Given the description of an element on the screen output the (x, y) to click on. 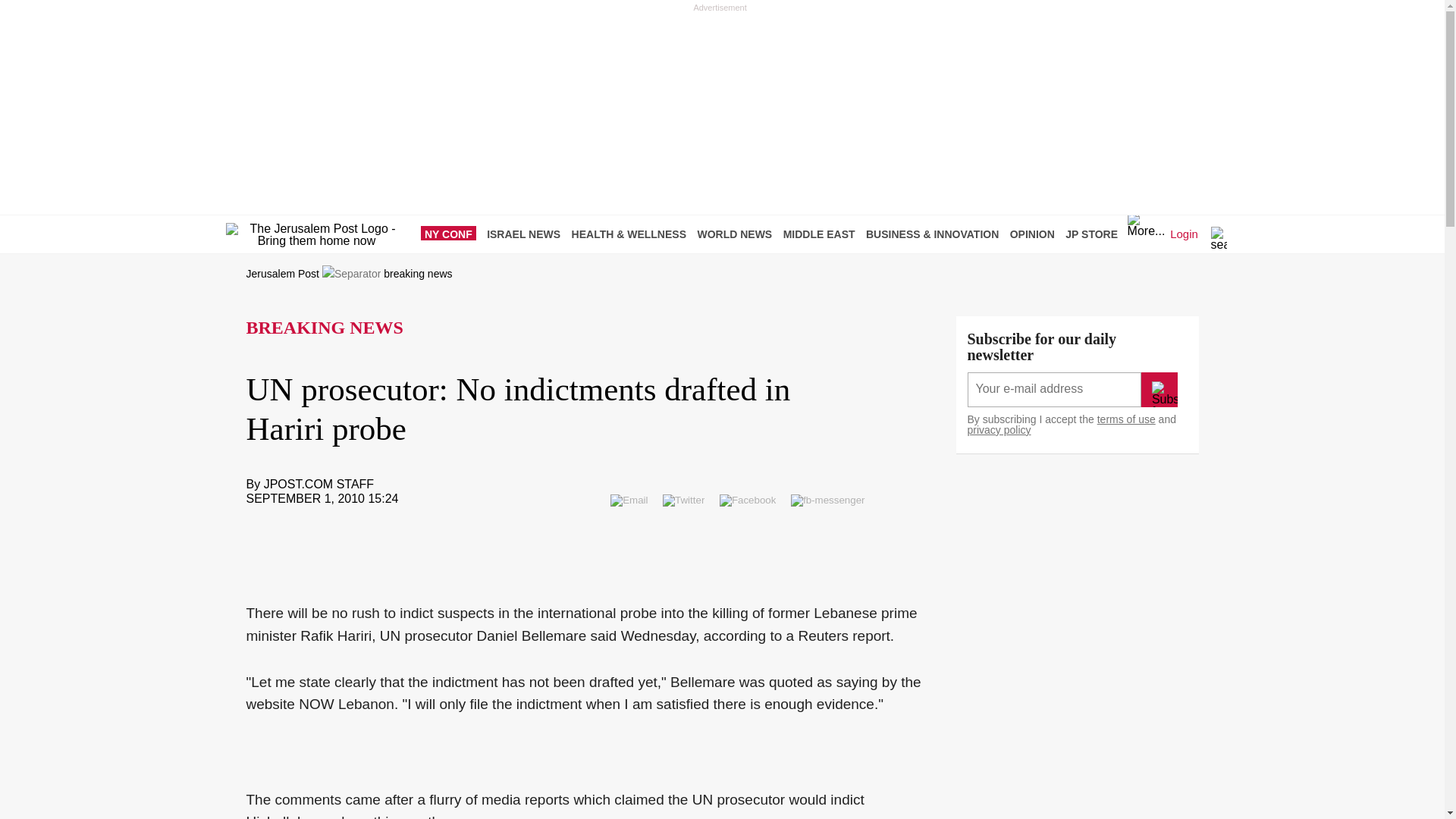
Jerusalem Post (282, 273)
WORLD NEWS (737, 234)
The Jerusalem Post Logo - Bring them home now (316, 234)
NY CONF (451, 234)
breaking news (417, 273)
ISRAEL NEWS (526, 234)
breaking news (417, 273)
MIDDLE EAST (823, 234)
